Given the description of an element on the screen output the (x, y) to click on. 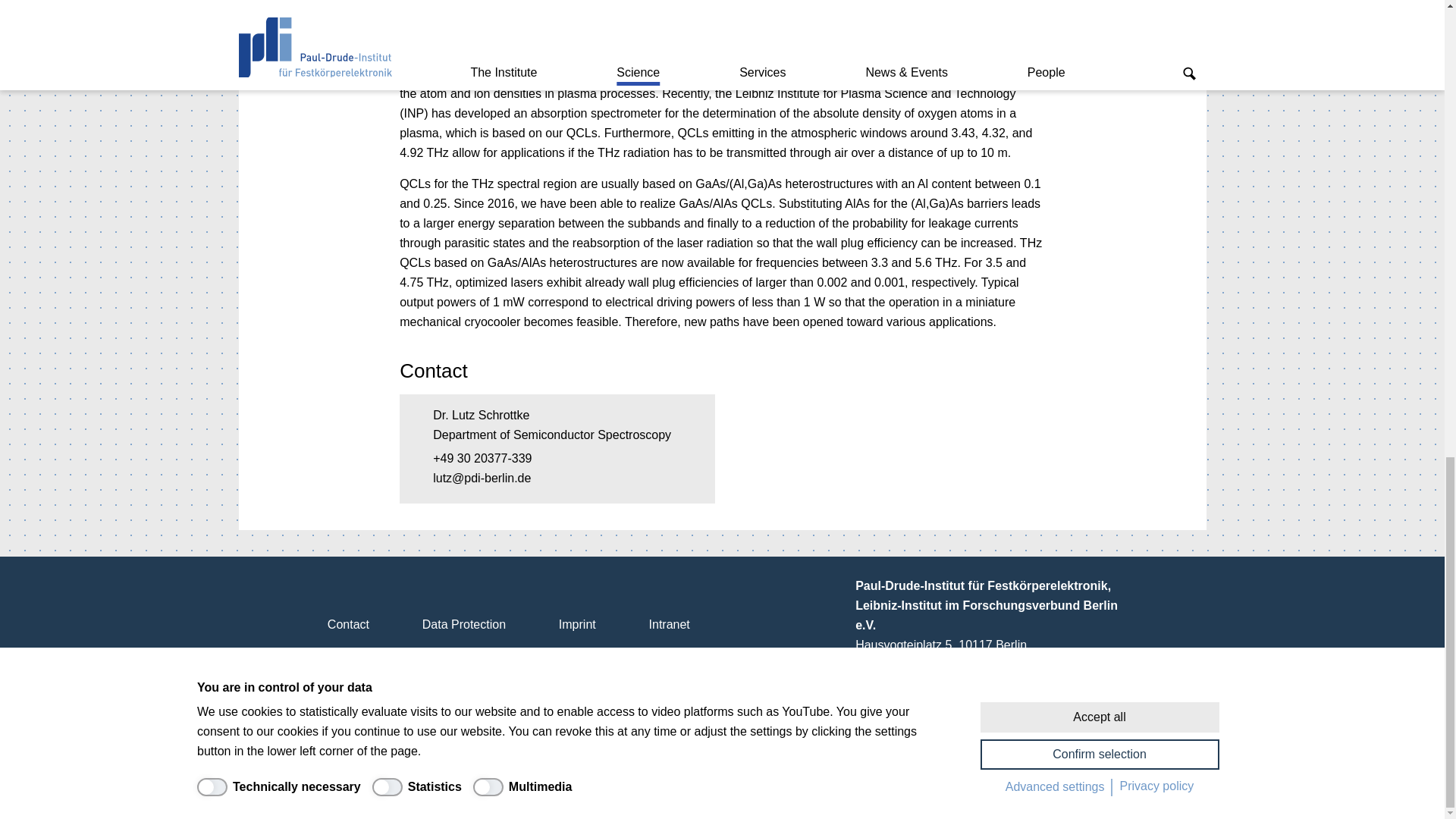
Contact (347, 624)
Intranet (669, 624)
Imprint (577, 624)
Data Protection (463, 624)
